Given the description of an element on the screen output the (x, y) to click on. 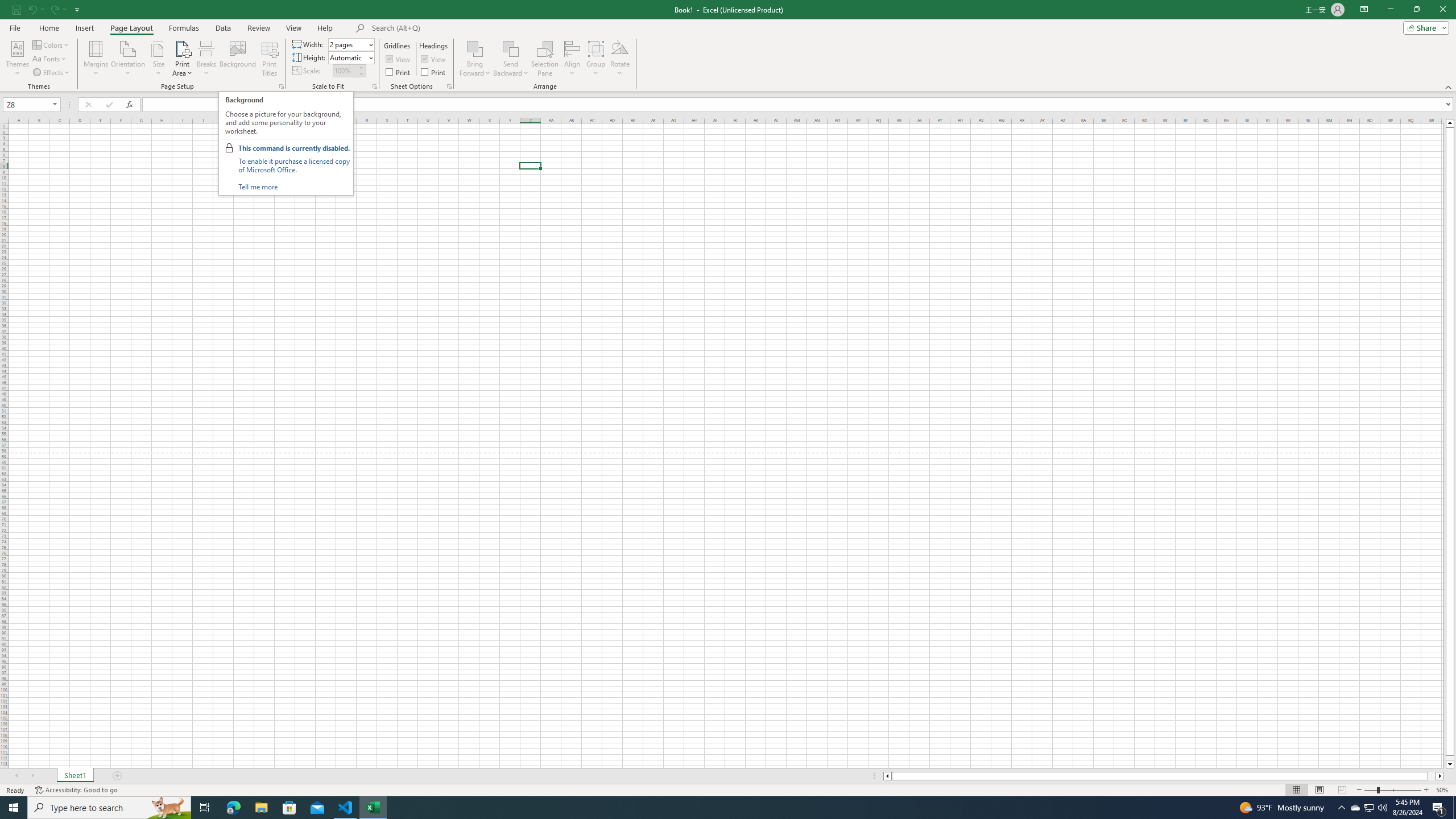
Sheet Options (449, 85)
Less (360, 73)
More (360, 67)
Margins (95, 58)
Align (571, 58)
Print Area (182, 58)
